Given the description of an element on the screen output the (x, y) to click on. 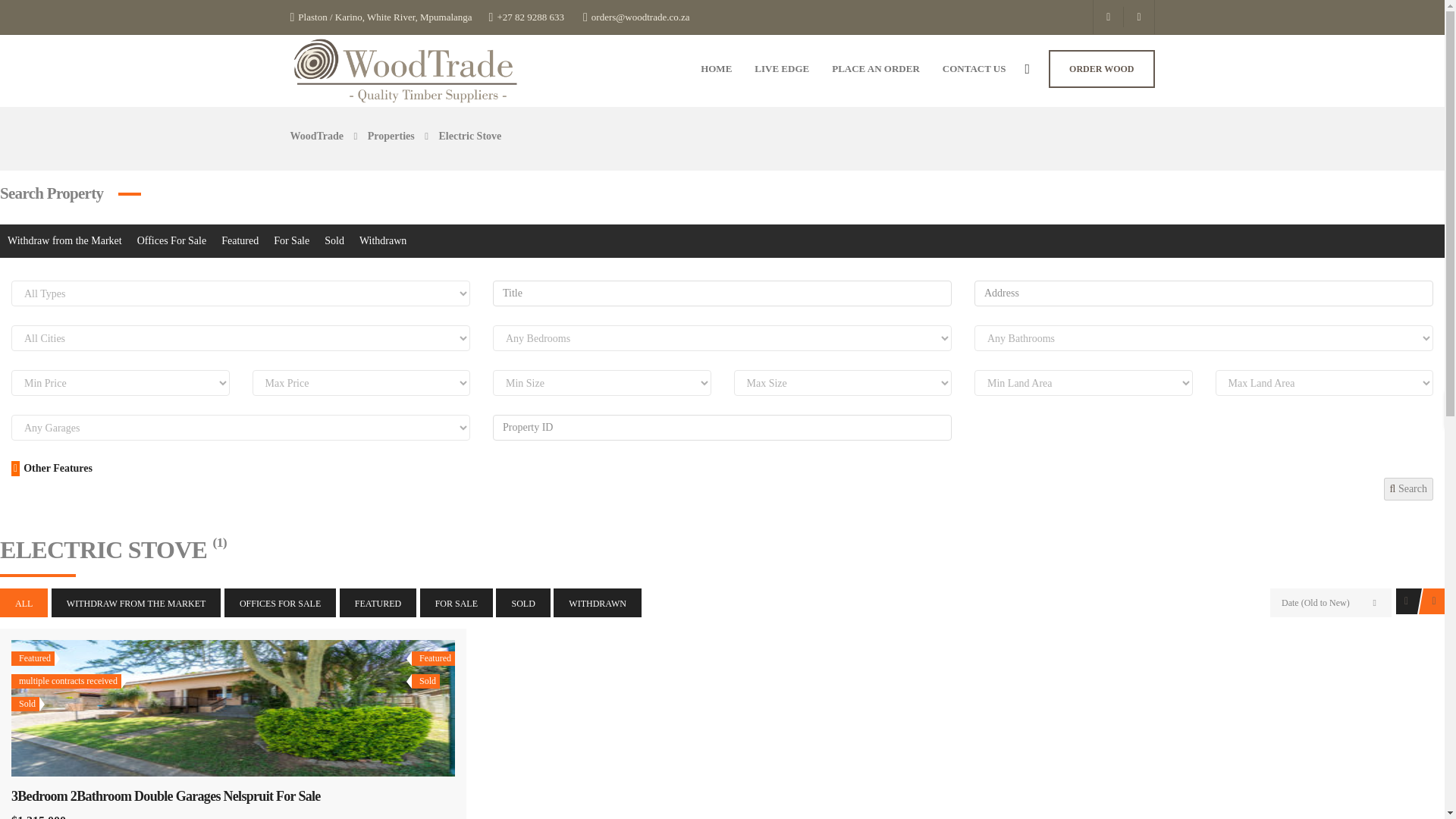
WITHDRAWN (597, 602)
Property Bedrooms (722, 338)
Other Features (52, 468)
SOLD (523, 602)
FOR SALE (456, 602)
Min Price (120, 382)
WITHDRAW FROM THE MARKET (135, 602)
Cities (240, 338)
Withdrawn (382, 240)
FEATURED (377, 602)
Property Types (240, 293)
OFFICES FOR SALE (280, 602)
Featured (240, 240)
Place an Order (875, 67)
Search (1408, 488)
